Given the description of an element on the screen output the (x, y) to click on. 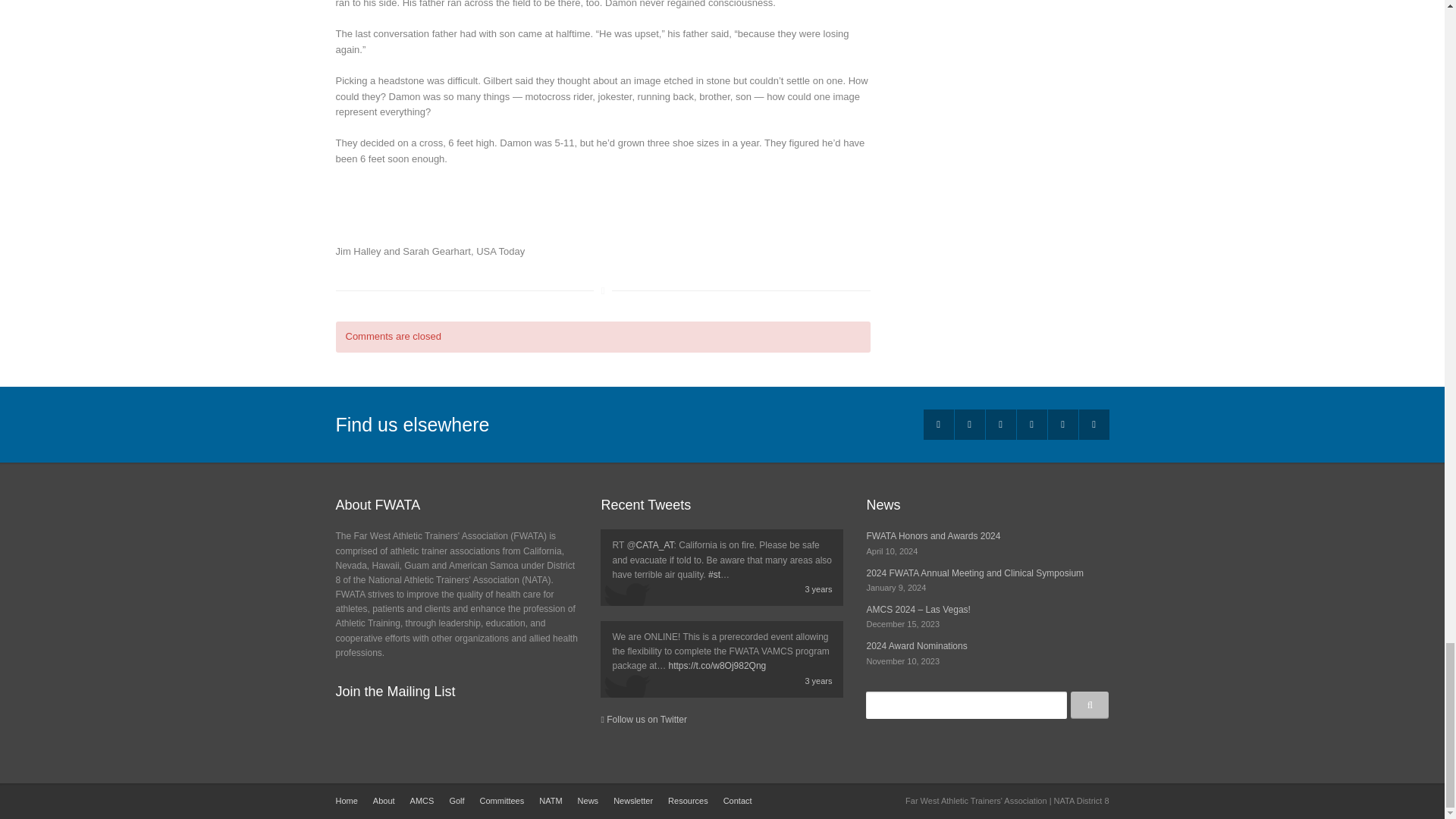
Follow us on Twitter (643, 719)
